Given the description of an element on the screen output the (x, y) to click on. 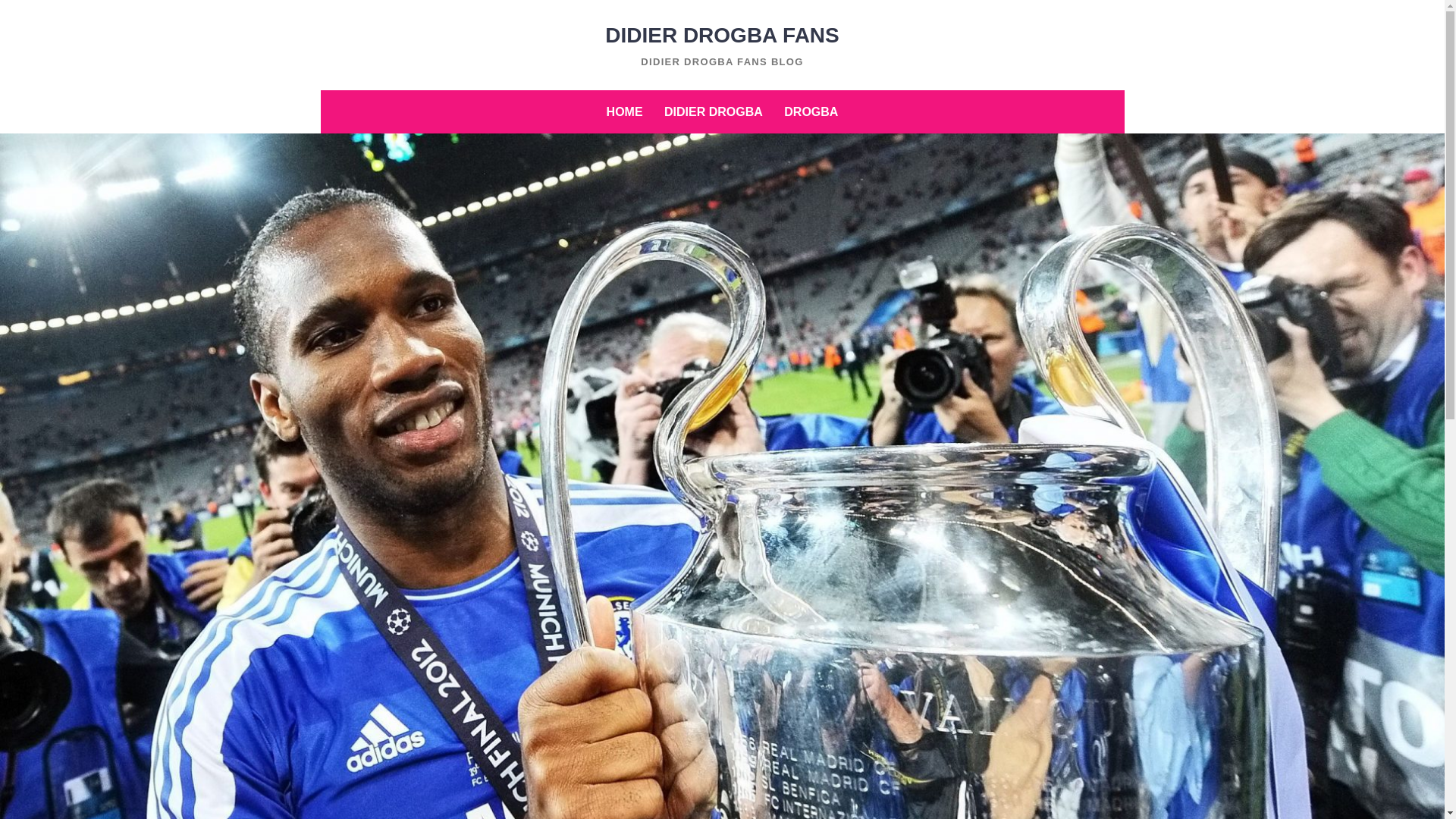
DROGBA (810, 111)
DIDIER DROGBA FANS (722, 34)
HOME (624, 111)
DIDIER DROGBA (713, 111)
